Given the description of an element on the screen output the (x, y) to click on. 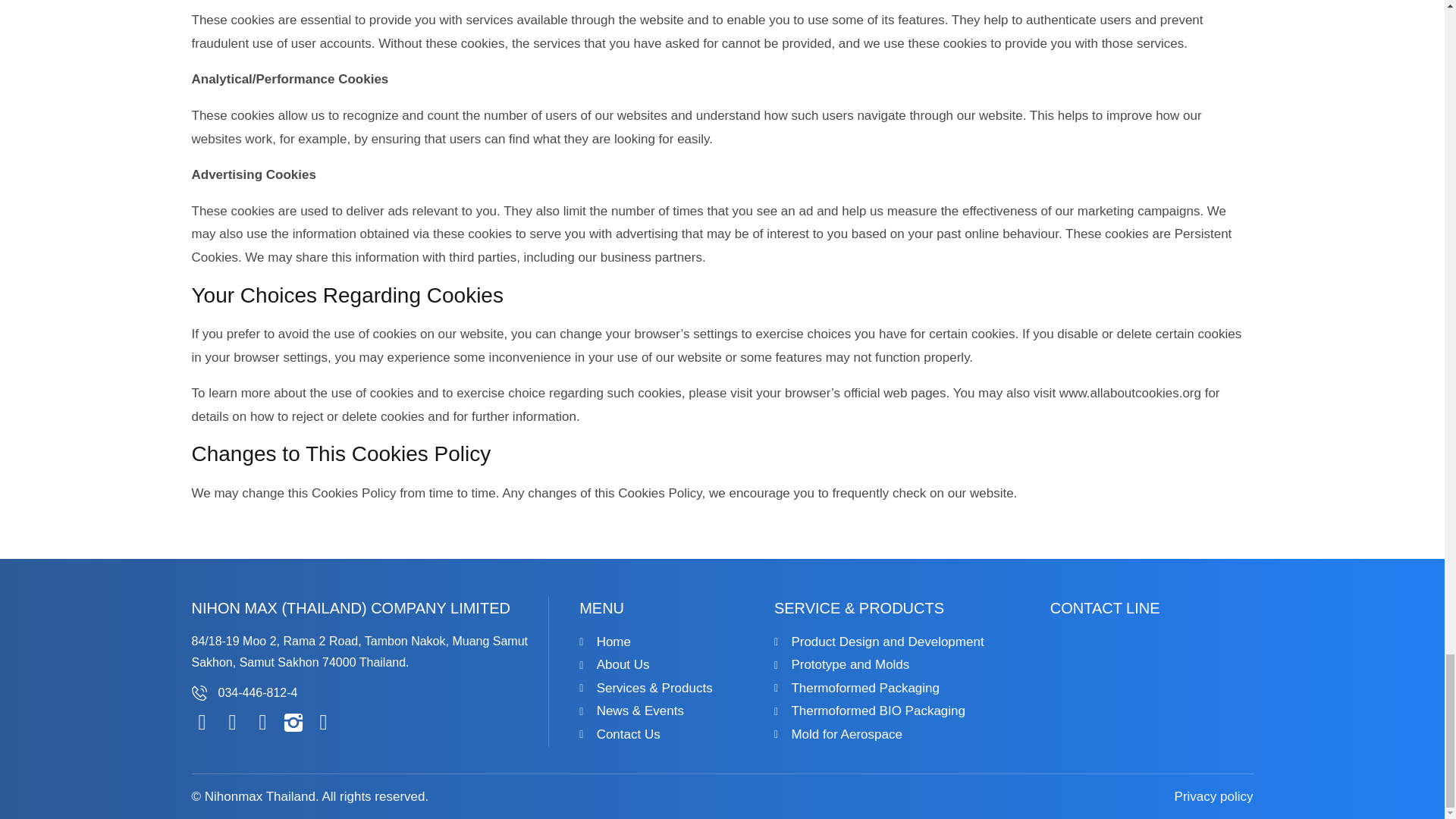
Prototype and Molds (895, 665)
Home (668, 642)
Privacy policy (1213, 797)
Thermoformed BIO Packaging (895, 711)
About Us (668, 665)
034-446-812-4 (258, 692)
Mold for Aerospace (895, 734)
Thermoformed Packaging (895, 689)
www.allaboutcookies.org (1130, 392)
Contact Us (668, 734)
Product Design and Development (895, 642)
